Given the description of an element on the screen output the (x, y) to click on. 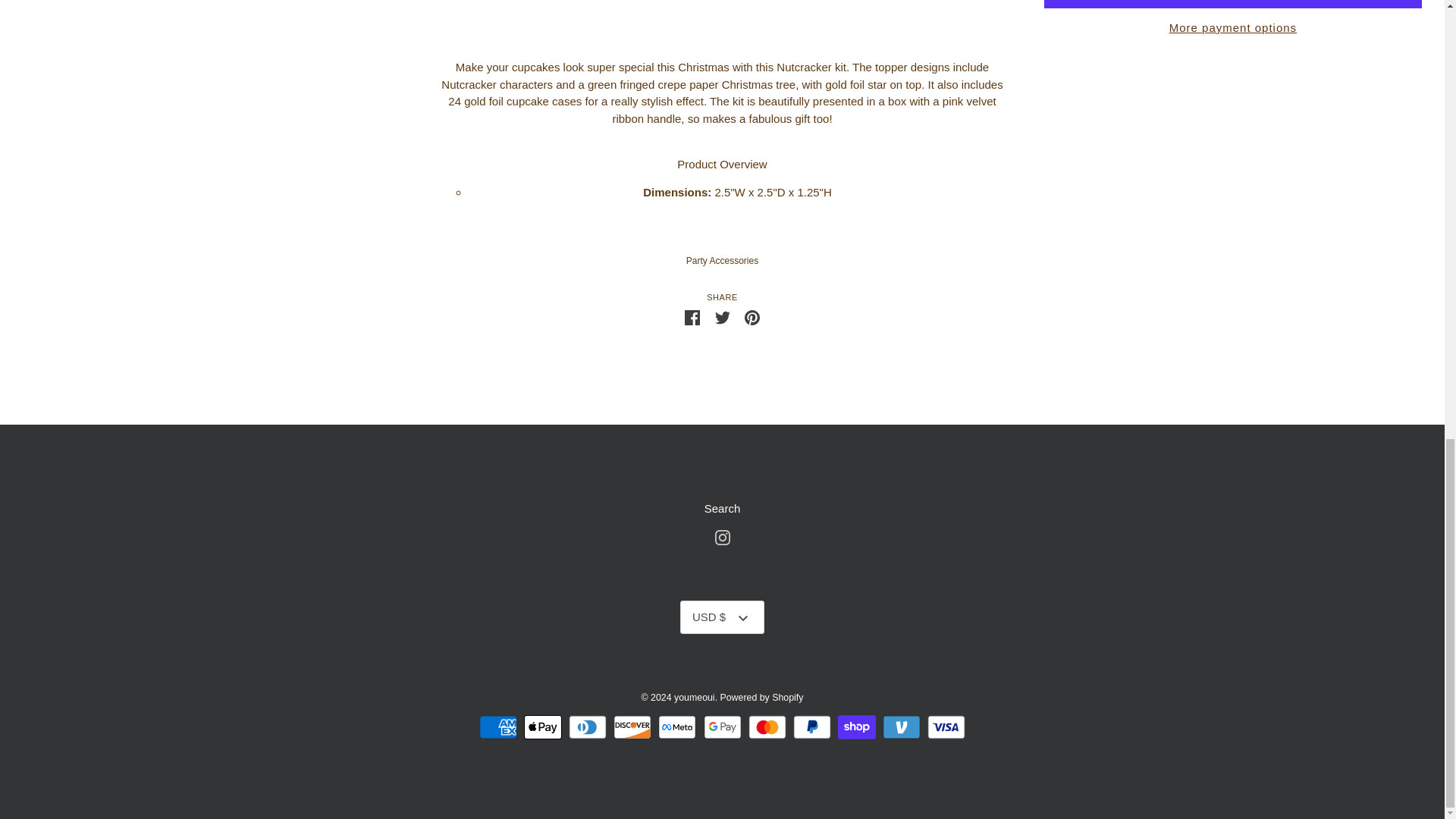
Instagram (721, 535)
PayPal (752, 316)
Twitter (812, 726)
Apple Pay (721, 317)
Mastercard (543, 726)
Diners Club (767, 726)
Google Pay (588, 726)
Visa (722, 726)
American Express (946, 726)
Venmo (497, 726)
Search (901, 726)
Meta Pay (722, 508)
More payment options (676, 726)
Discover (1232, 27)
